Given the description of an element on the screen output the (x, y) to click on. 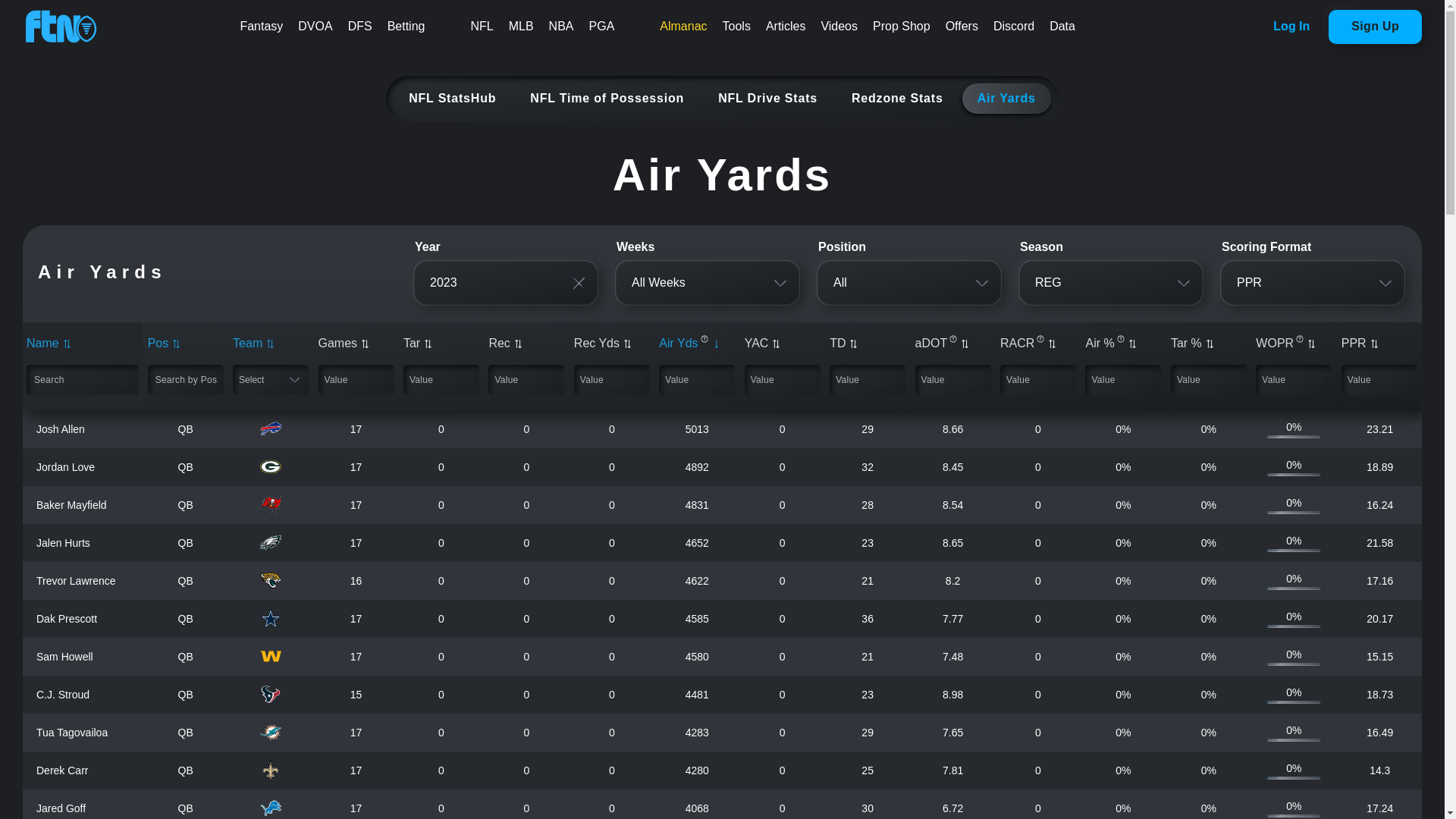
Prop Shop (901, 26)
